Given the description of an element on the screen output the (x, y) to click on. 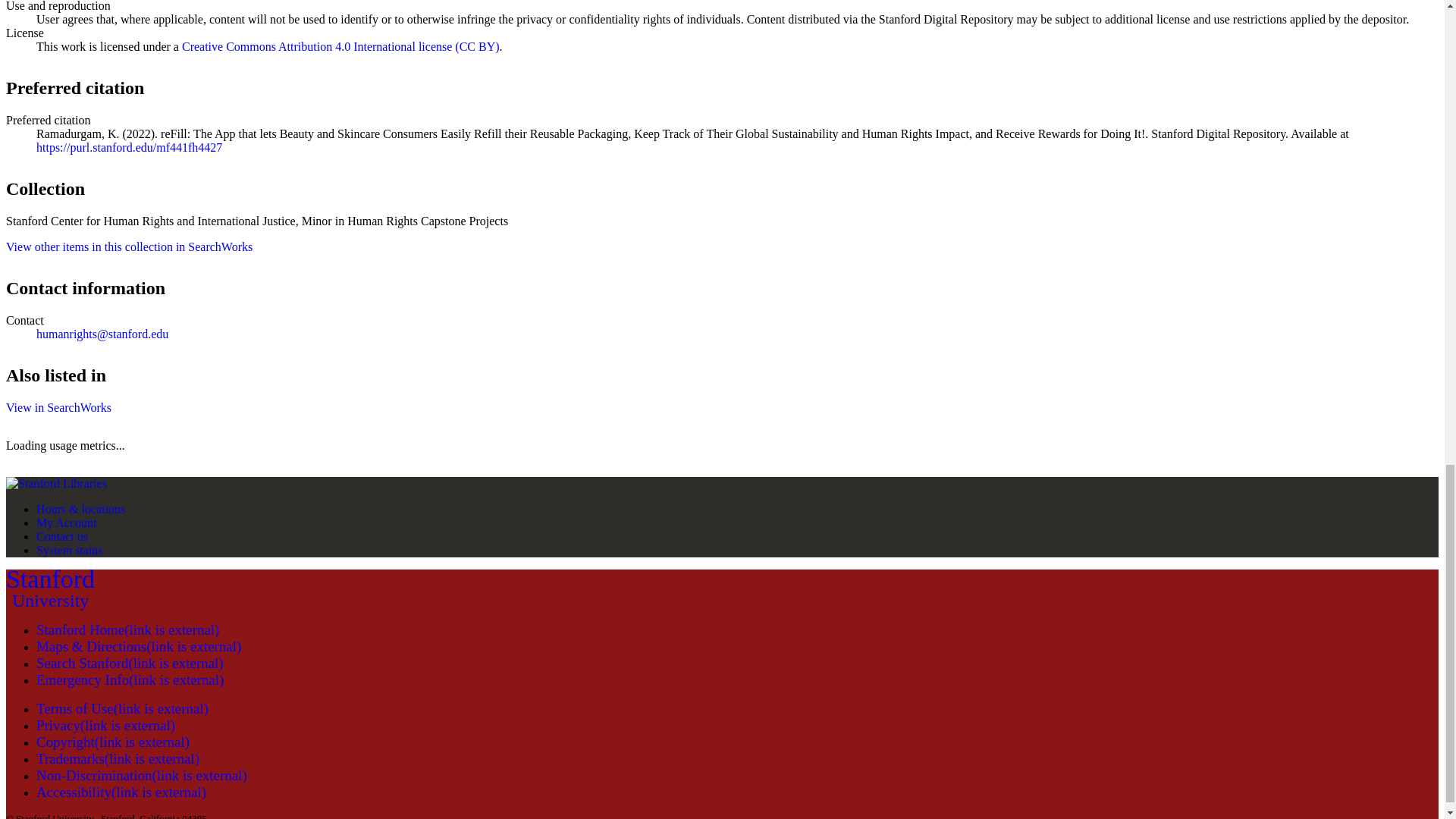
Privacy and cookie policy (105, 725)
View in SearchWorks (58, 407)
My Account (66, 522)
View other items in this collection in SearchWorks (49, 588)
Report web accessibility issues (128, 246)
Contact us (121, 791)
Non-discrimination policy (61, 535)
System status (141, 774)
Ownership and use of Stanford trademarks and images (69, 549)
Report alleged copyright infringement (117, 758)
Terms of use for sites (112, 741)
